Given the description of an element on the screen output the (x, y) to click on. 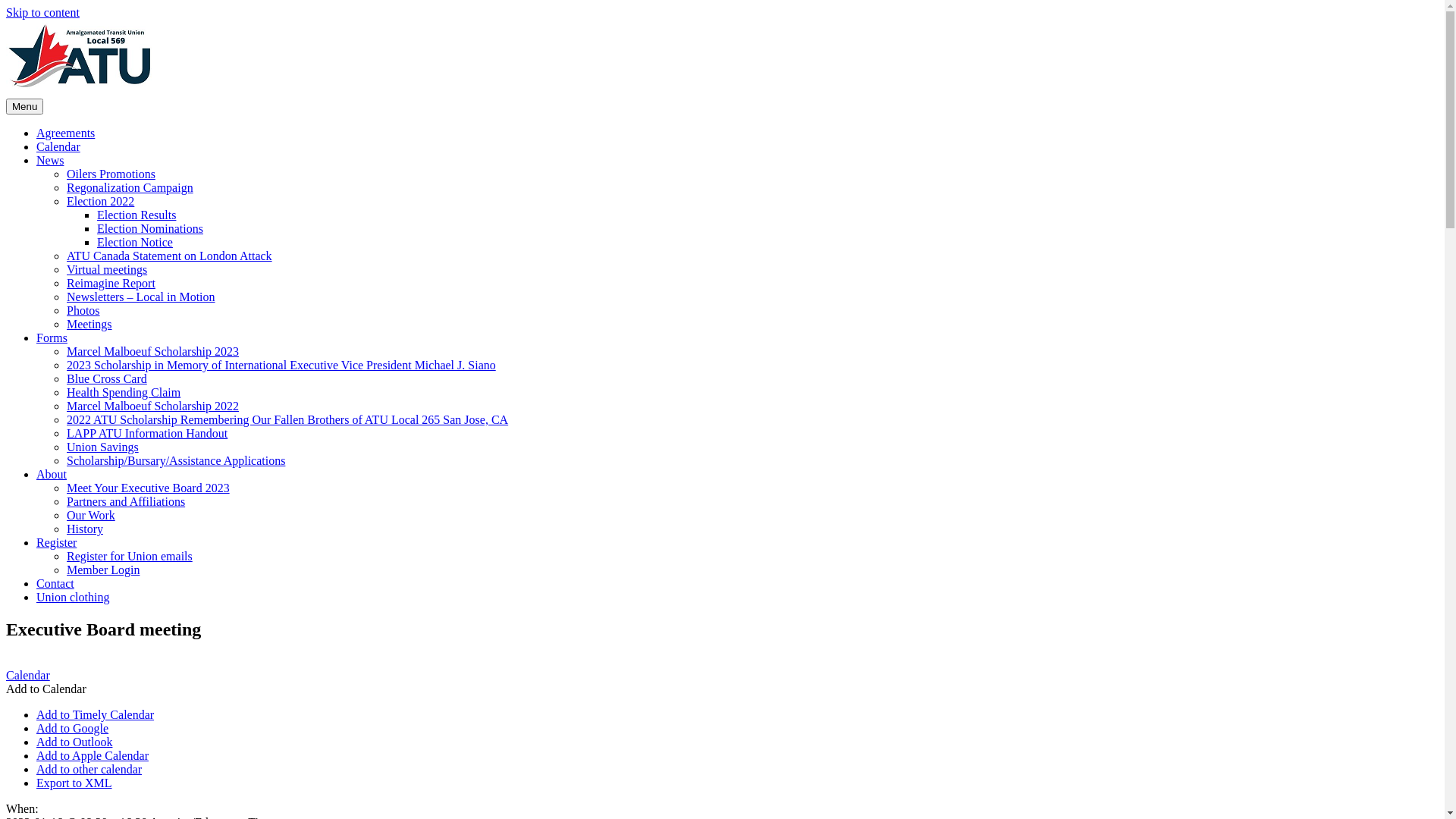
Add to Outlook Element type: text (74, 741)
Calendar Element type: text (28, 674)
Marcel Malboeuf Scholarship 2022 Element type: text (152, 405)
Add to Timely Calendar Element type: text (94, 714)
ATU Canada Statement on London Attack Element type: text (169, 255)
History Element type: text (84, 528)
Oilers Promotions Element type: text (110, 173)
Our Work Element type: text (90, 514)
Election Notice Element type: text (134, 241)
Add to Google Element type: text (72, 727)
Menu Element type: text (24, 106)
LAPP ATU Information Handout Element type: text (146, 432)
Export to XML Element type: text (74, 782)
About Element type: text (51, 473)
Virtual meetings Element type: text (106, 269)
Union Savings Element type: text (102, 446)
Election Results Element type: text (136, 214)
Contact Element type: text (55, 583)
Register Element type: text (56, 542)
Union clothing Element type: text (72, 596)
Scholarship/Bursary/Assistance Applications Element type: text (175, 460)
Forms Element type: text (51, 337)
Regonalization Campaign Element type: text (129, 187)
Health Spending Claim Element type: text (123, 391)
Register for Union emails Element type: text (129, 555)
Photos Element type: text (83, 310)
Add to other calendar Element type: text (88, 768)
ATU 569 Element type: text (51, 127)
Reimagine Report Element type: text (110, 282)
Calendar Element type: text (58, 146)
Add to Apple Calendar Element type: text (92, 755)
Election 2022 Element type: text (100, 200)
Agreements Element type: text (65, 132)
News Element type: text (49, 159)
Skip to content Element type: text (42, 12)
Partners and Affiliations Element type: text (125, 501)
Meetings Element type: text (89, 323)
Marcel Malboeuf Scholarship 2023 Element type: text (152, 351)
Blue Cross Card Element type: text (106, 378)
Meet Your Executive Board 2023 Element type: text (147, 487)
Election Nominations Element type: text (150, 228)
Member Login Element type: text (102, 569)
